Given the description of an element on the screen output the (x, y) to click on. 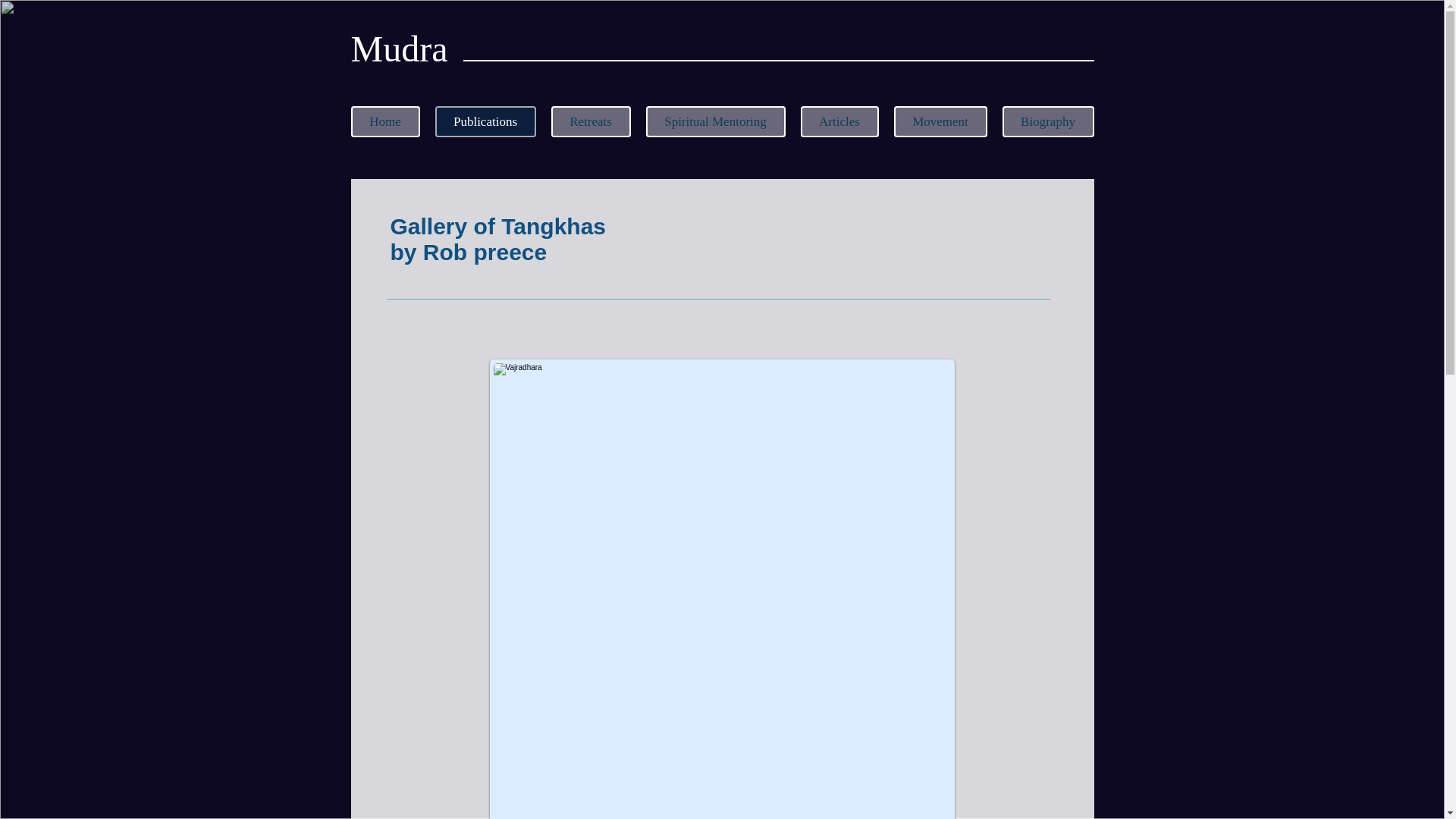
Biography (1048, 121)
Movement (940, 121)
Spiritual Mentoring (716, 121)
Home (384, 121)
Articles (839, 121)
Publications (485, 121)
Mudra (398, 48)
Retreats (590, 121)
